Given the description of an element on the screen output the (x, y) to click on. 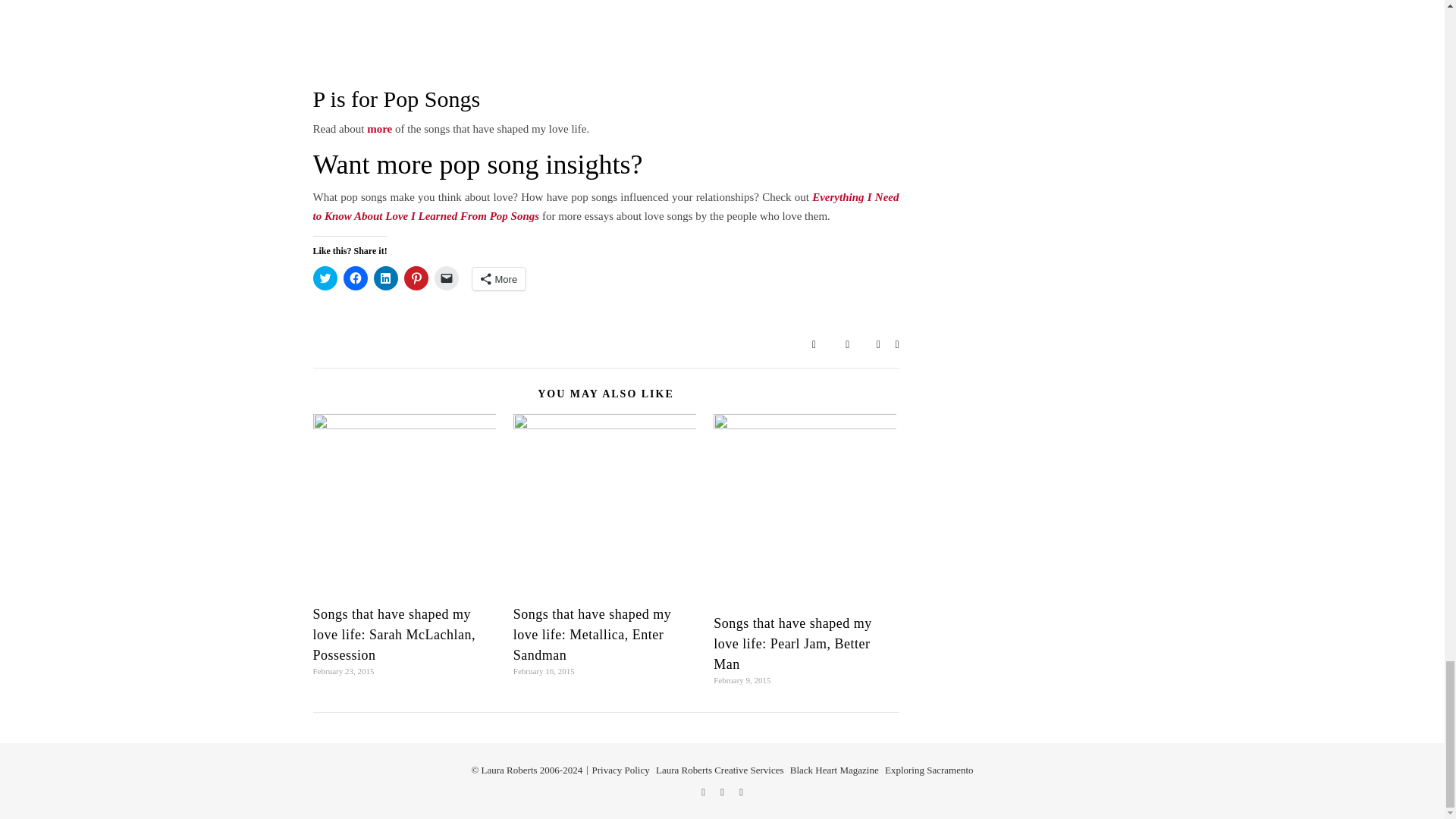
Click to share on Pinterest (415, 278)
Click to share on Facebook (354, 278)
Click to email a link to a friend (445, 278)
Click to share on Twitter (324, 278)
Click to share on LinkedIn (384, 278)
